Given the description of an element on the screen output the (x, y) to click on. 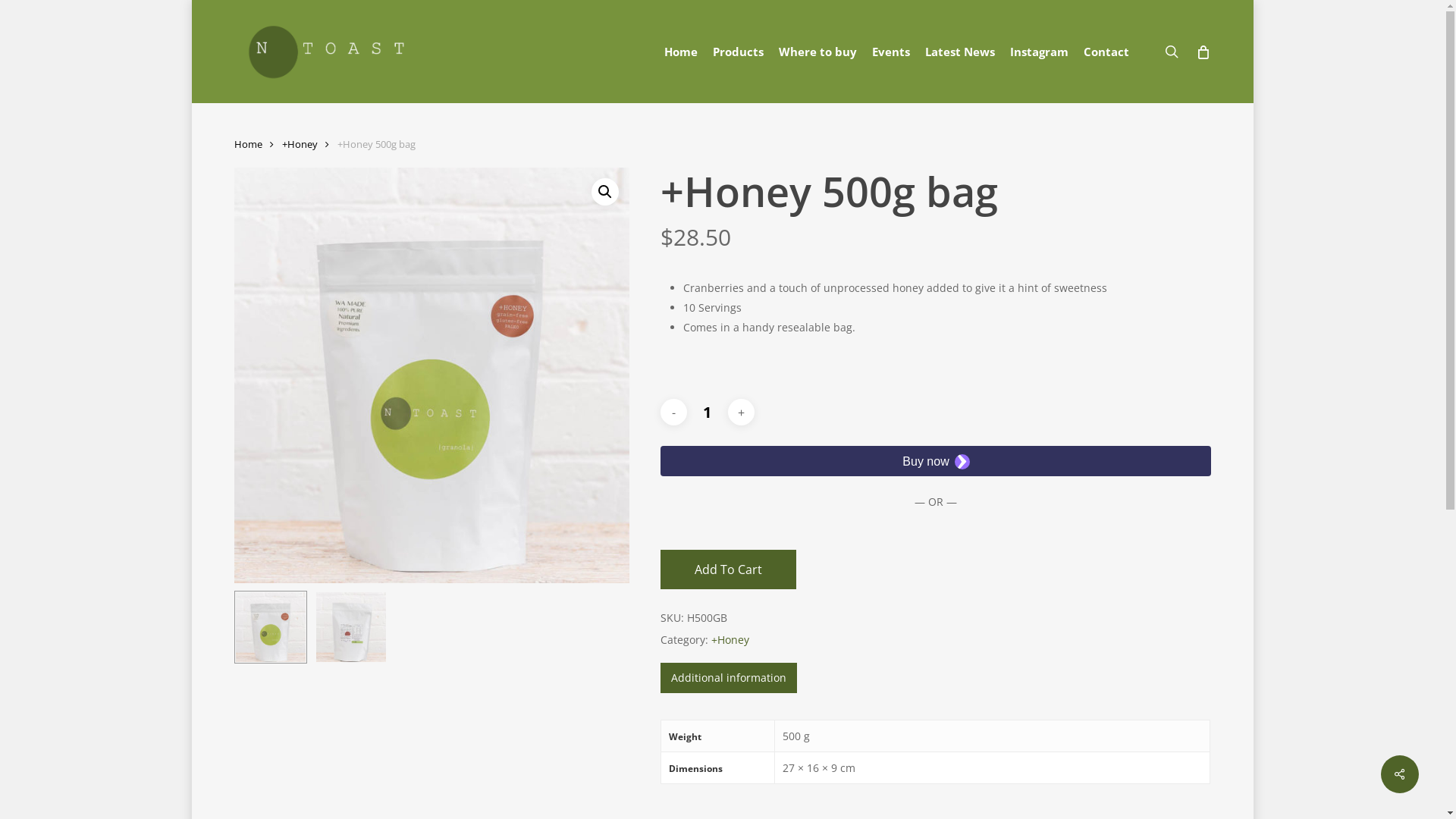
search Element type: text (1170, 51)
Home Element type: text (247, 143)
Where to buy Element type: text (816, 50)
Events Element type: text (890, 50)
Add To Cart Element type: text (728, 569)
Contact Element type: text (1105, 50)
Instagram Element type: text (1039, 50)
+Honey Element type: text (730, 639)
Additional information Element type: text (728, 677)
+Honey Element type: text (299, 143)
Home Element type: text (680, 50)
Secure payment button frame Element type: hover (935, 460)
no-toast-products-2017-1767 Element type: hover (431, 375)
Latest News Element type: text (959, 50)
Products Element type: text (738, 50)
